Given the description of an element on the screen output the (x, y) to click on. 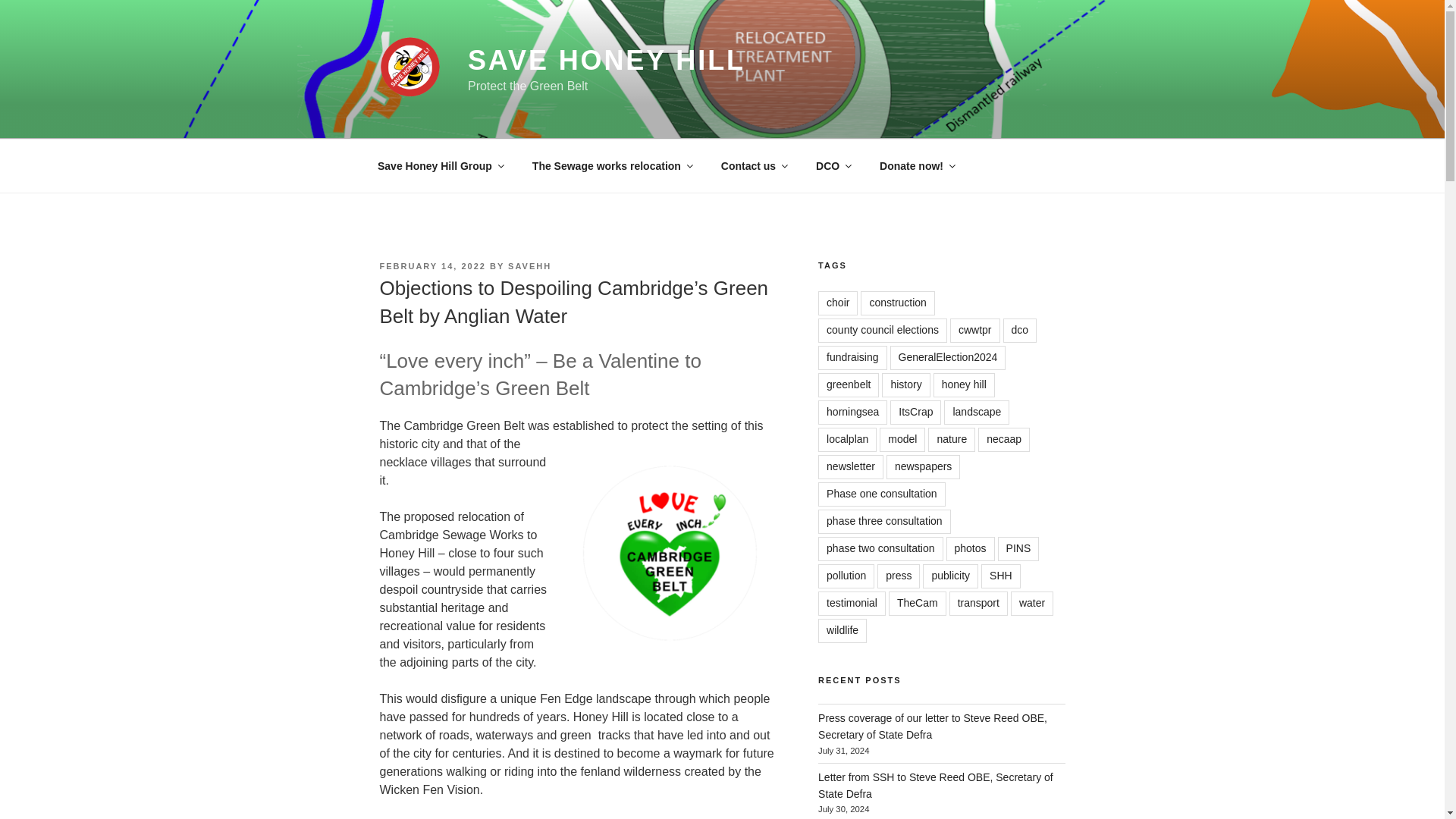
Save Honey Hill Group (439, 165)
SAVE HONEY HILL (606, 60)
Contact us (753, 165)
The Sewage works relocation (611, 165)
DCO (833, 165)
